Given the description of an element on the screen output the (x, y) to click on. 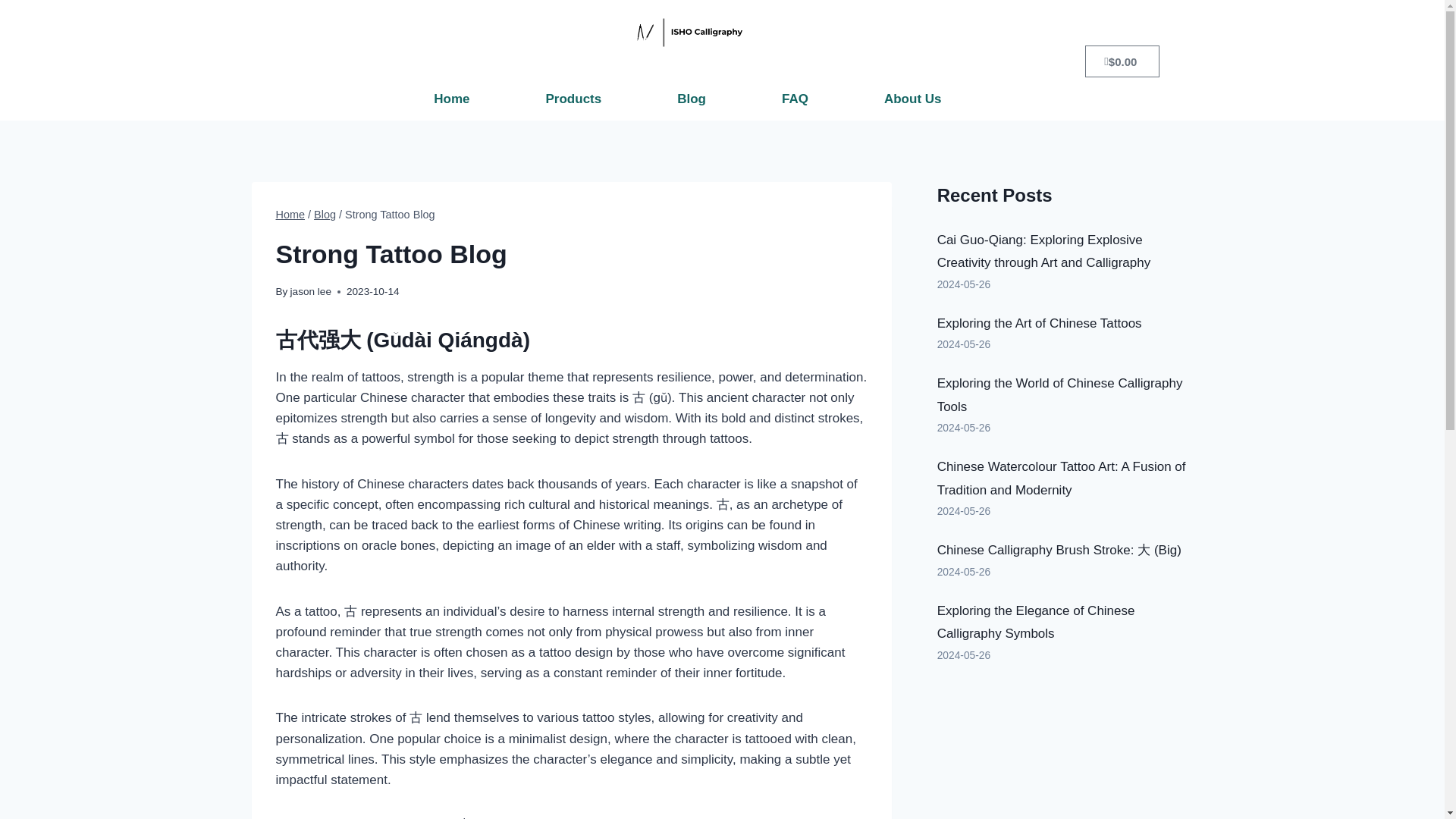
FAQ (794, 98)
About Us (912, 98)
Home (451, 98)
Products (574, 98)
jason lee (310, 291)
Exploring the World of Chinese Calligraphy Tools (1059, 394)
Exploring the Elegance of Chinese Calligraphy Symbols (1036, 622)
Home (290, 214)
